Given the description of an element on the screen output the (x, y) to click on. 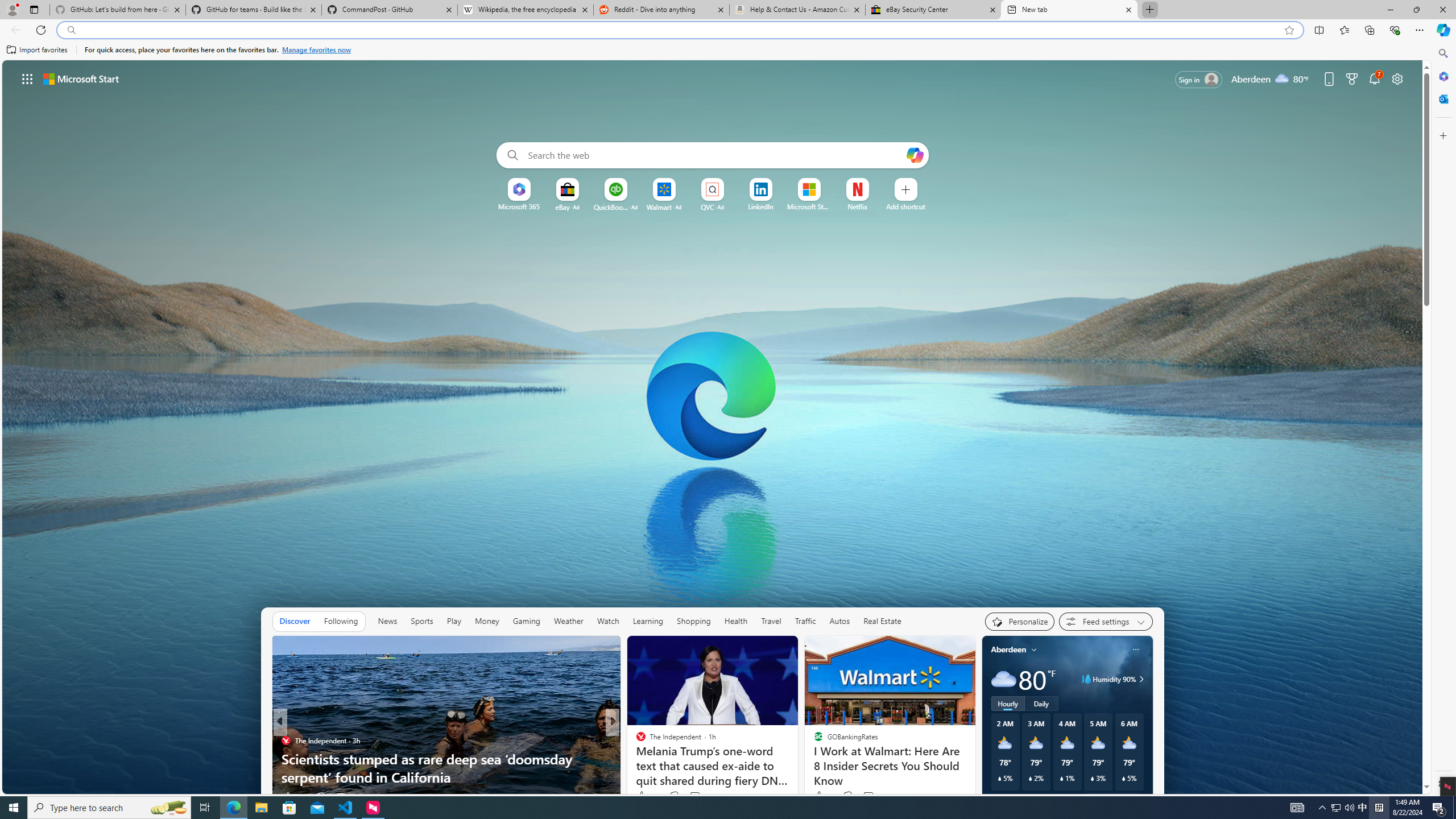
Class: icon-img (1135, 649)
159 Like (643, 796)
View comments 21 Comment (696, 796)
Import favorites (36, 49)
